Given the description of an element on the screen output the (x, y) to click on. 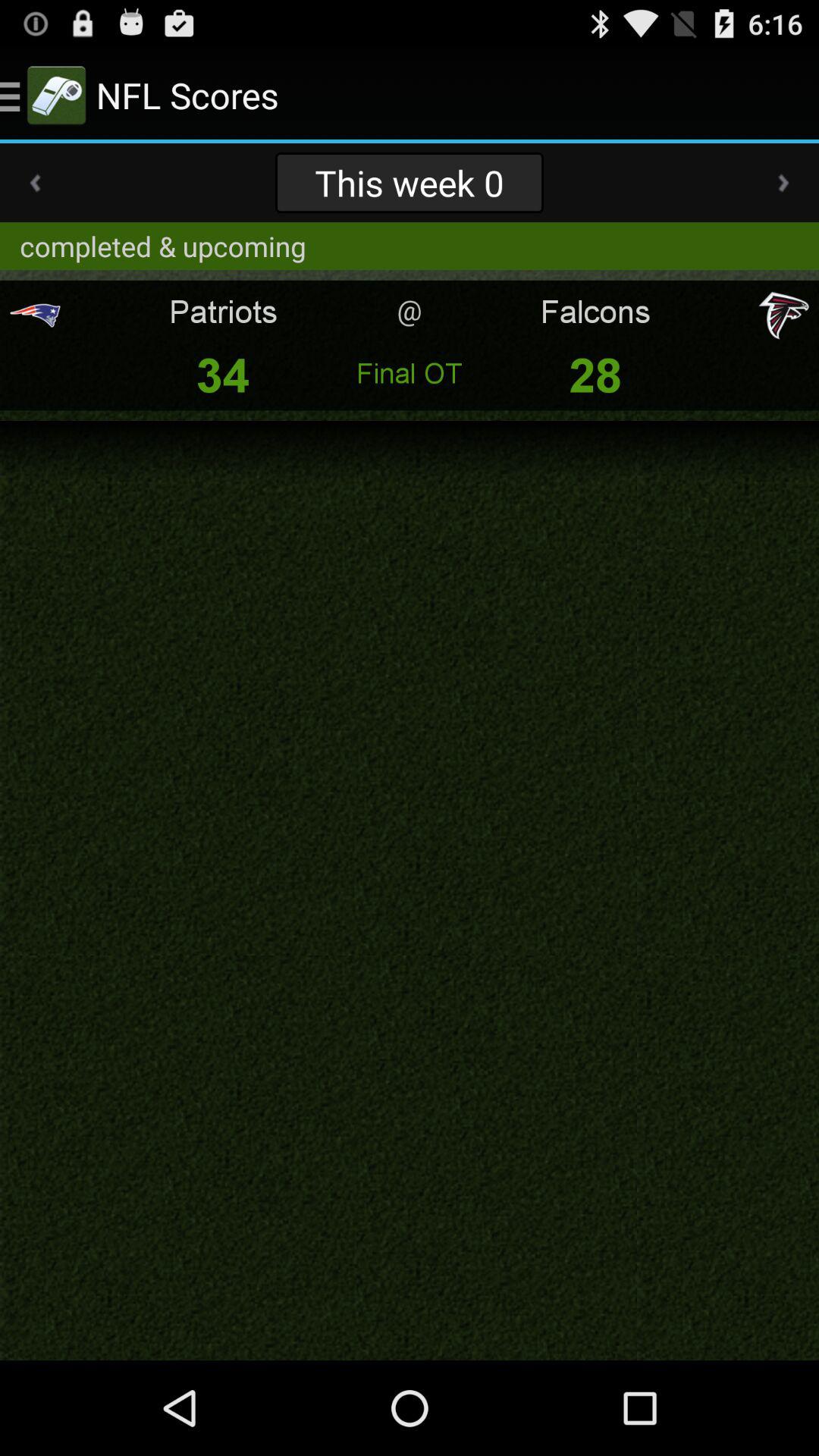
turn on the icon to the left of the this week 0 app (35, 182)
